Given the description of an element on the screen output the (x, y) to click on. 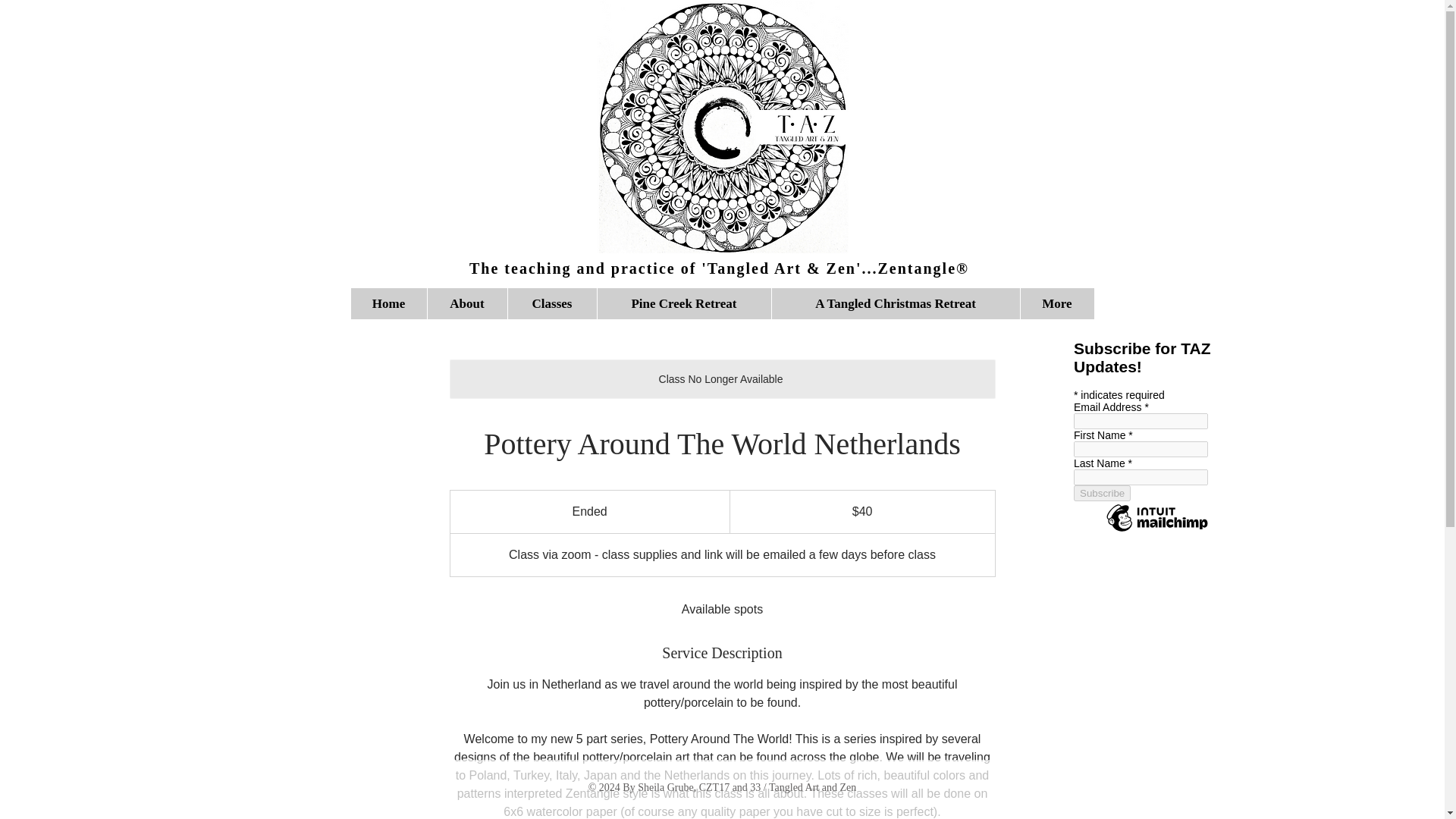
About (466, 303)
Home (388, 303)
Classes (550, 303)
A Tangled Christmas Retreat (894, 303)
Pine Creek Retreat (682, 303)
